Given the description of an element on the screen output the (x, y) to click on. 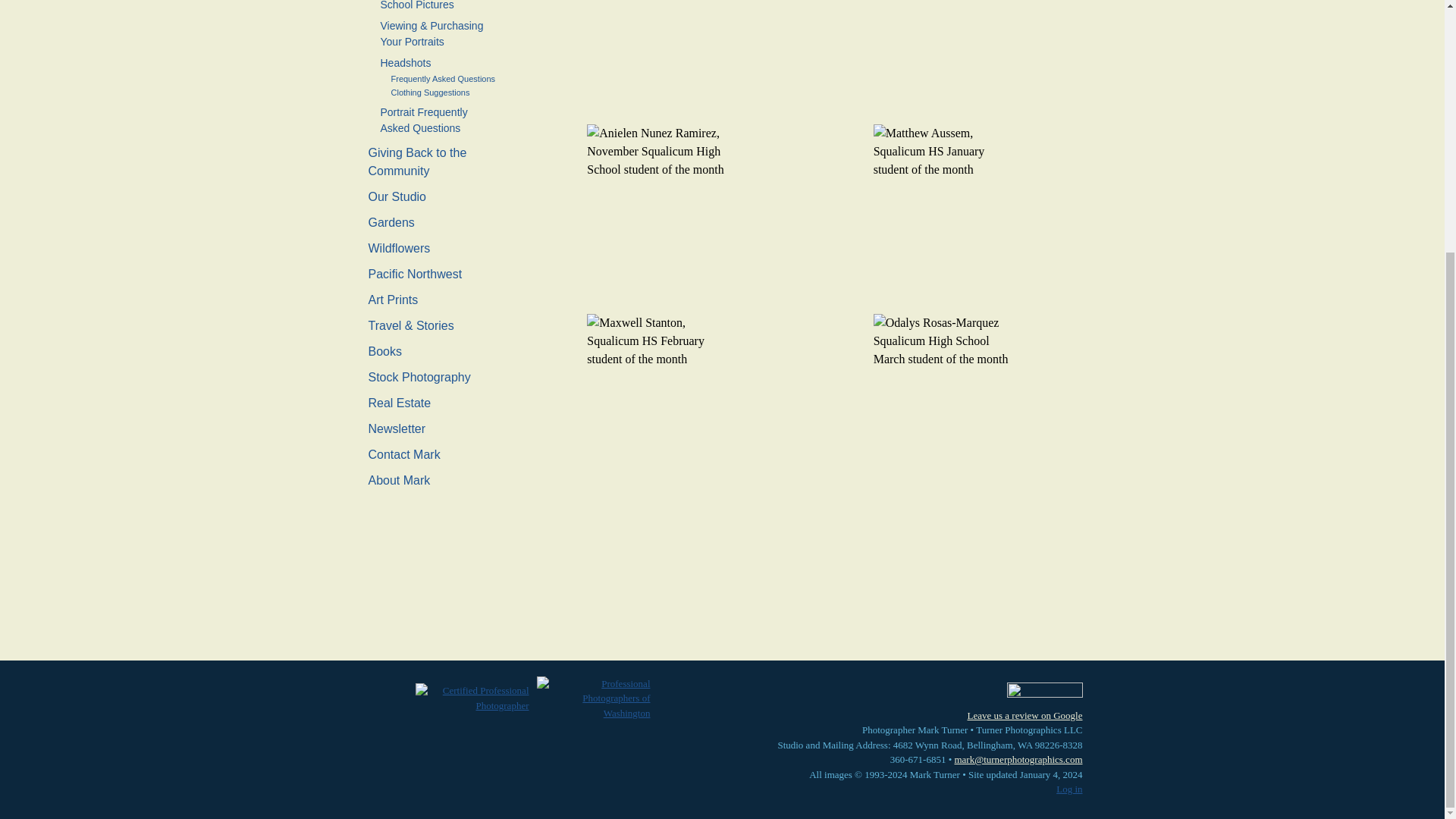
Professional Photographers of Washington (592, 698)
The Mark of Excellence: Certified Professional Photographer (471, 697)
Professional Photographers of Washington (593, 698)
The Mark of Excellence: Certified Professional Photographer (471, 697)
